Given the description of an element on the screen output the (x, y) to click on. 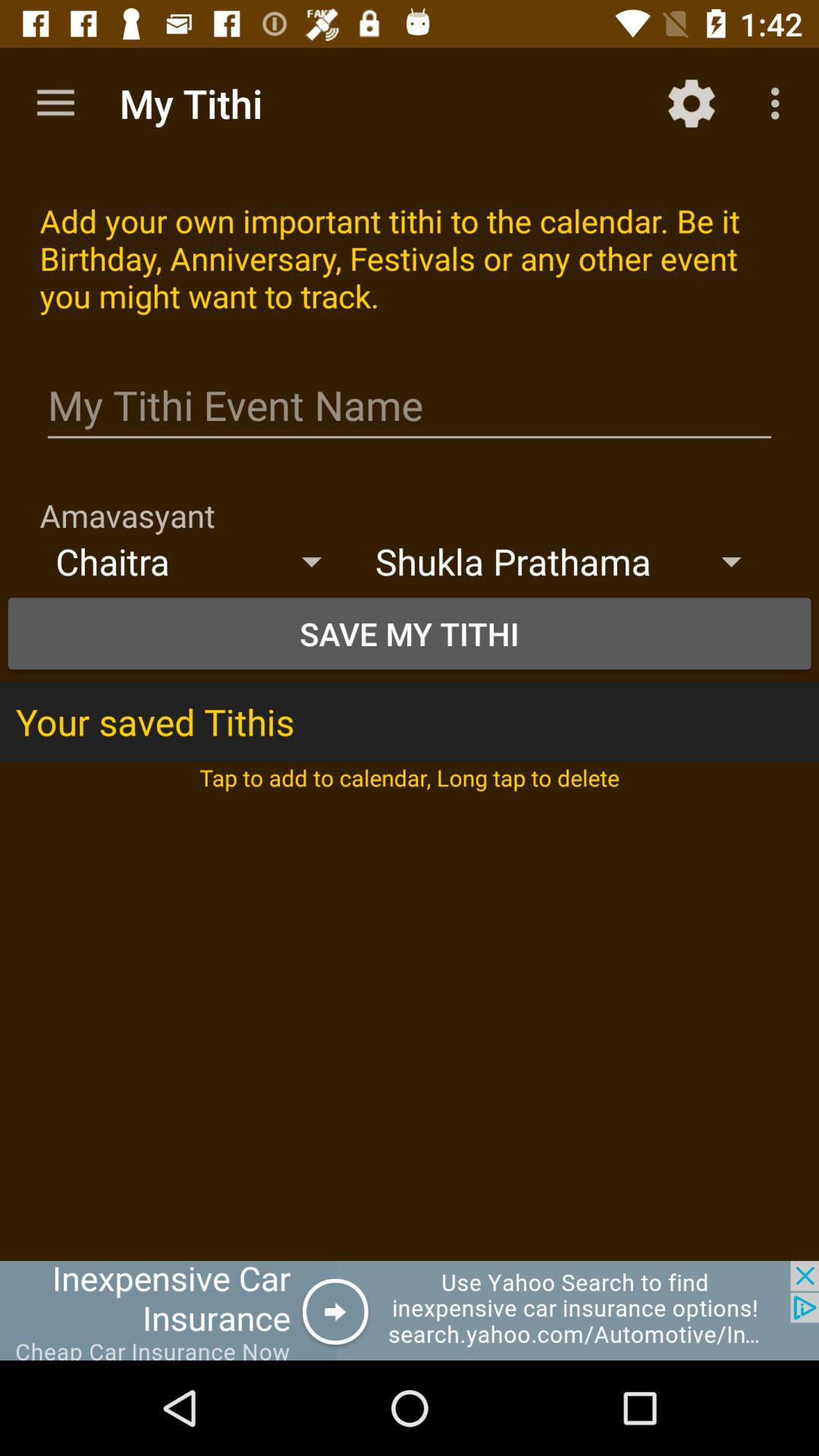
advertisement link (409, 1310)
